Given the description of an element on the screen output the (x, y) to click on. 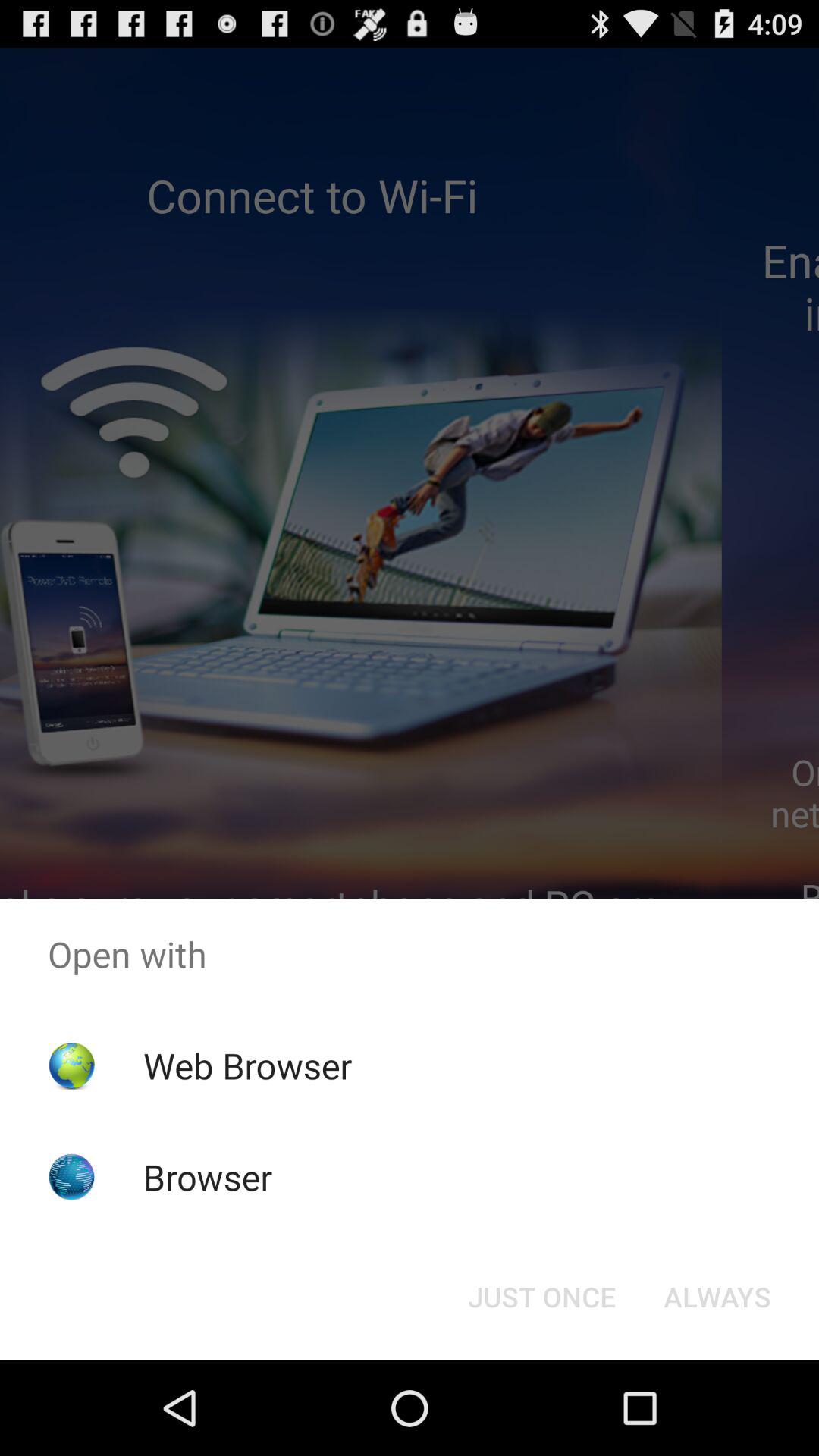
choose app below open with icon (541, 1296)
